Given the description of an element on the screen output the (x, y) to click on. 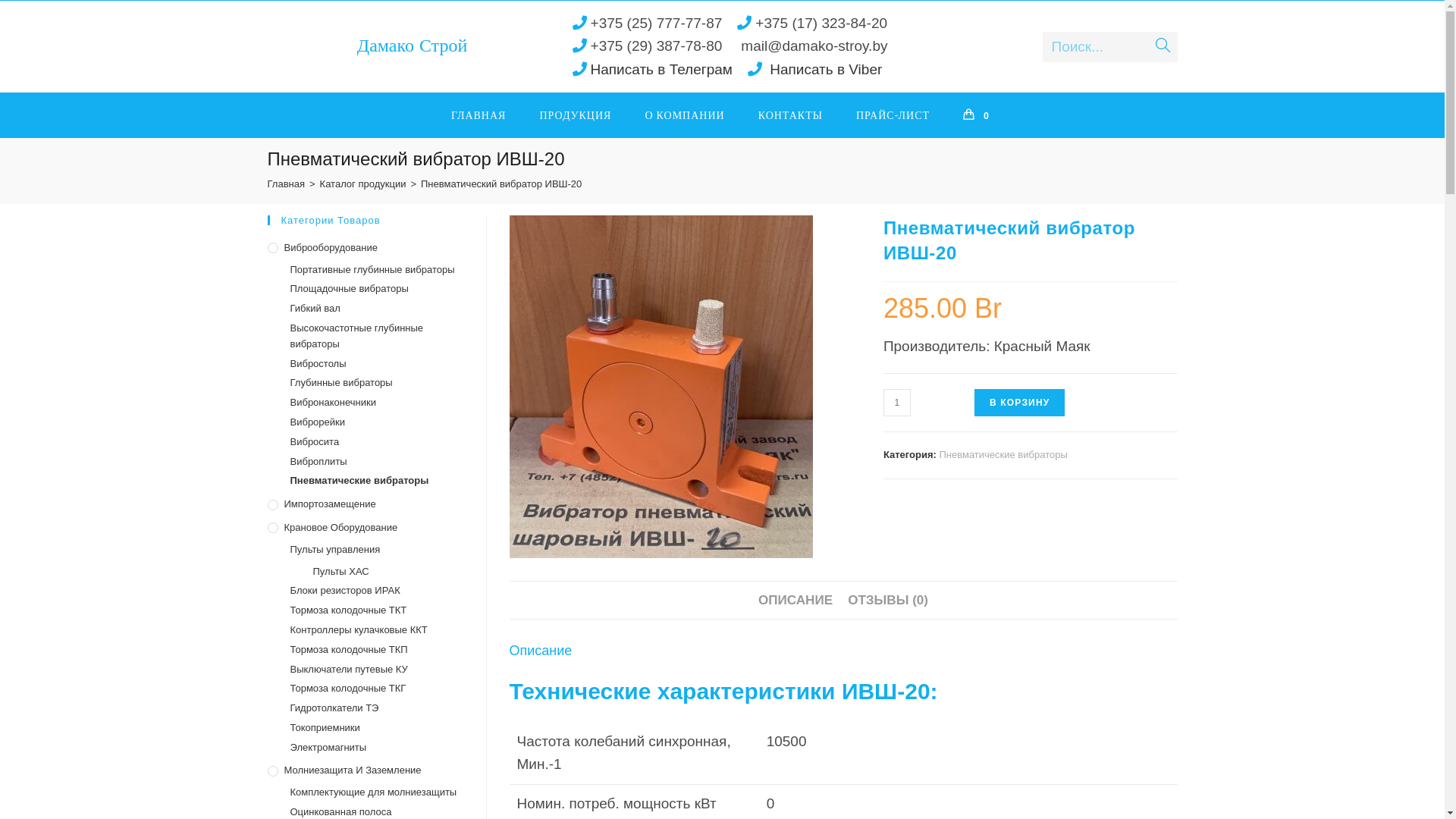
0 Element type: text (978, 115)
